Given the description of an element on the screen output the (x, y) to click on. 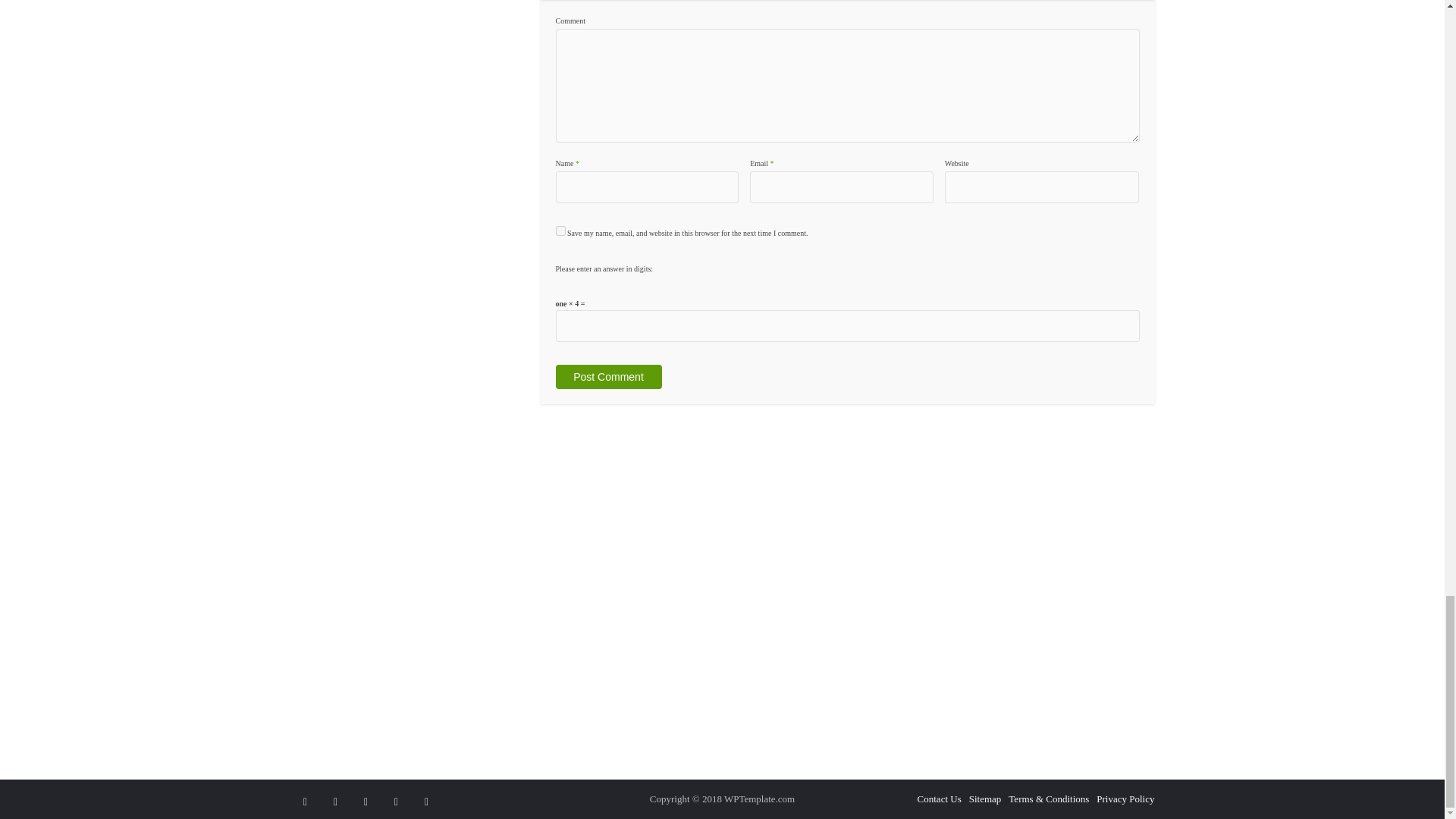
yes (559, 230)
Post Comment (607, 376)
